Given the description of an element on the screen output the (x, y) to click on. 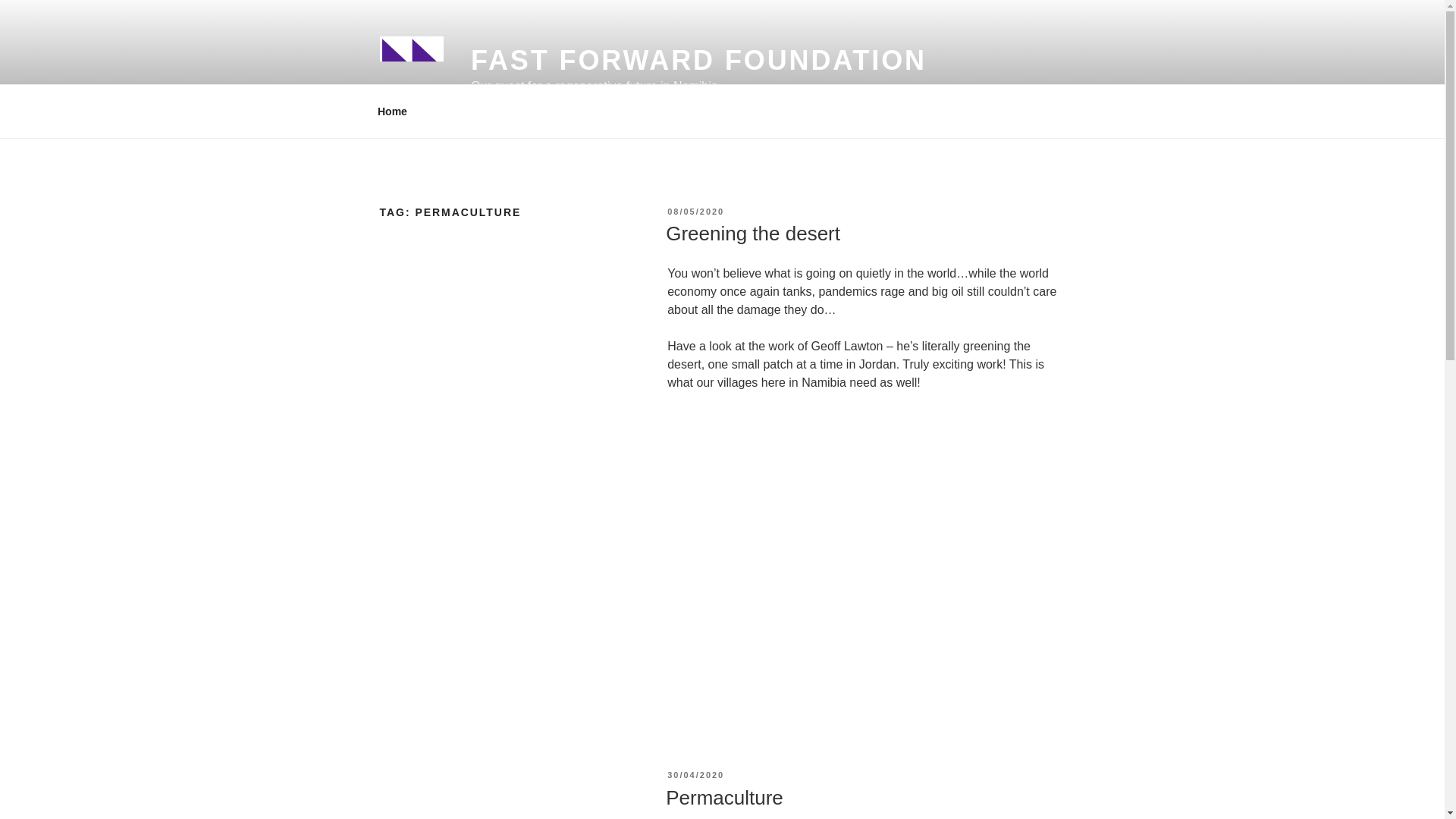
Home (392, 110)
FAST FORWARD FOUNDATION (698, 60)
Greening the desert (752, 232)
Greening the Desert Project (865, 559)
Permaculture (724, 797)
